Given the description of an element on the screen output the (x, y) to click on. 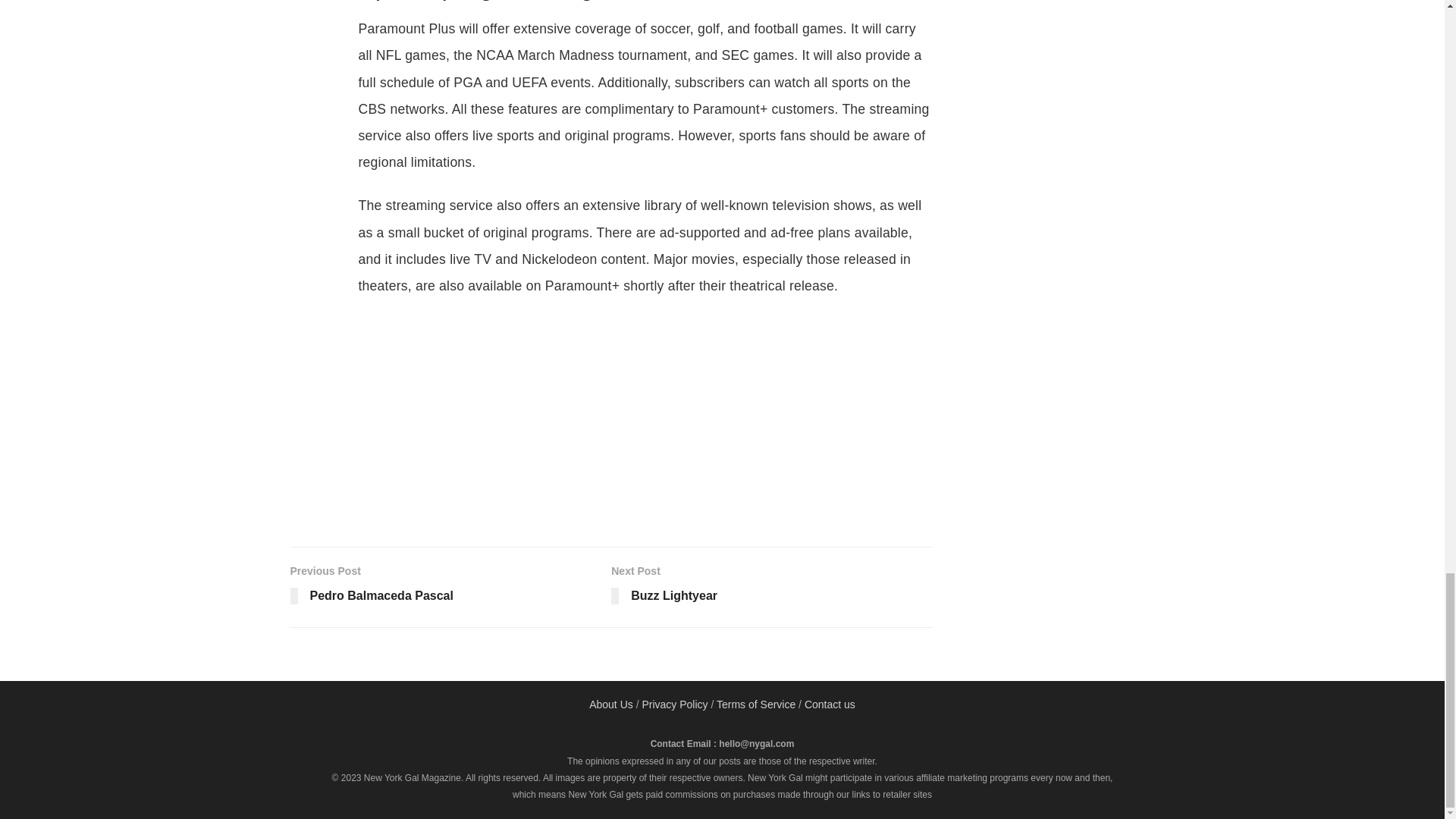
About Us (772, 586)
Privacy Policy (611, 704)
